Given the description of an element on the screen output the (x, y) to click on. 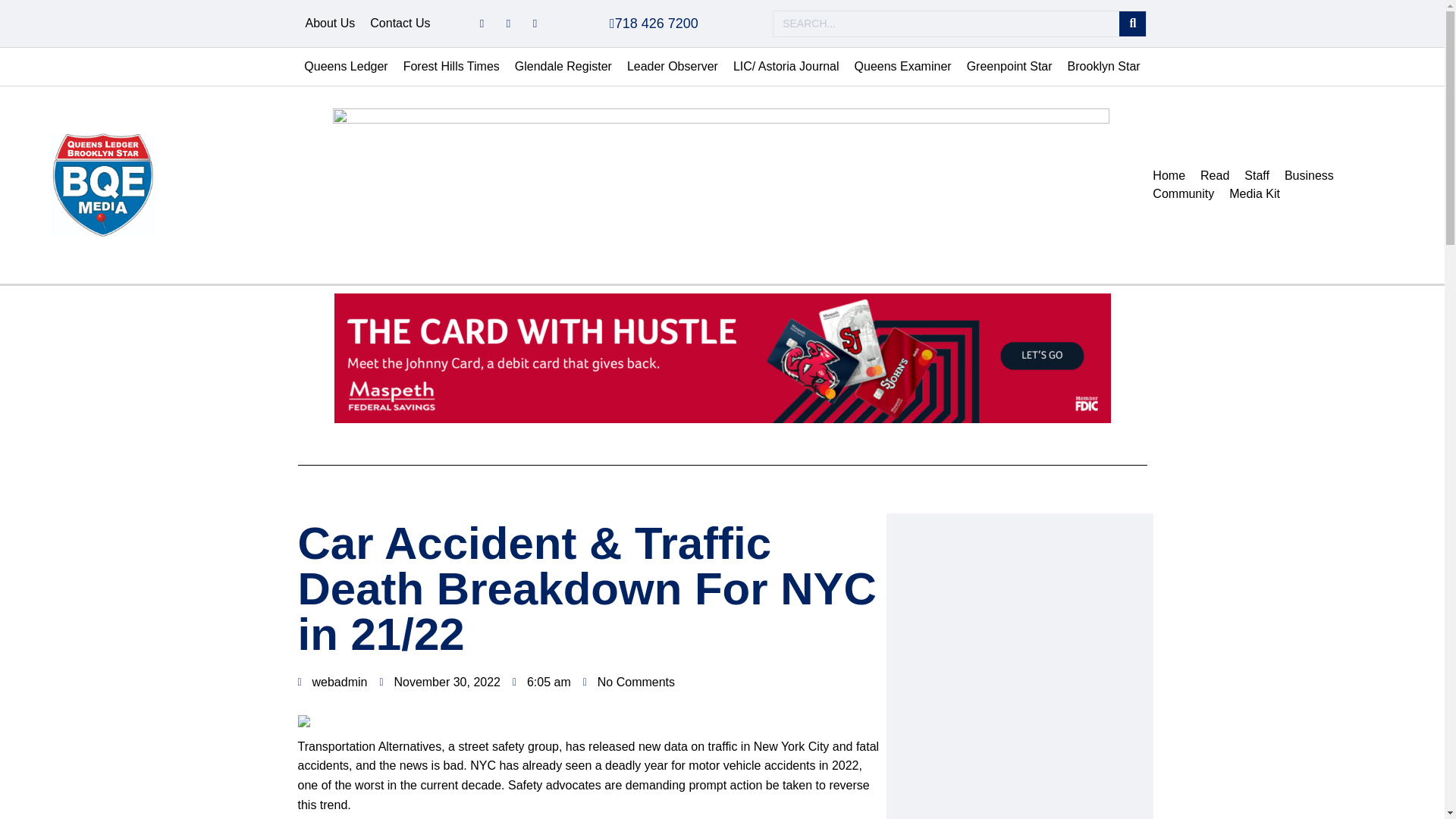
718 426 7200 (653, 23)
Contact Us (400, 23)
Read (1214, 176)
Queens Ledger (345, 66)
Forest Hills Times (451, 66)
About Us (329, 23)
Leader Observer (672, 66)
Queens Examiner (903, 66)
Brooklyn Star (1103, 66)
Greenpoint Star (1009, 66)
